Given the description of an element on the screen output the (x, y) to click on. 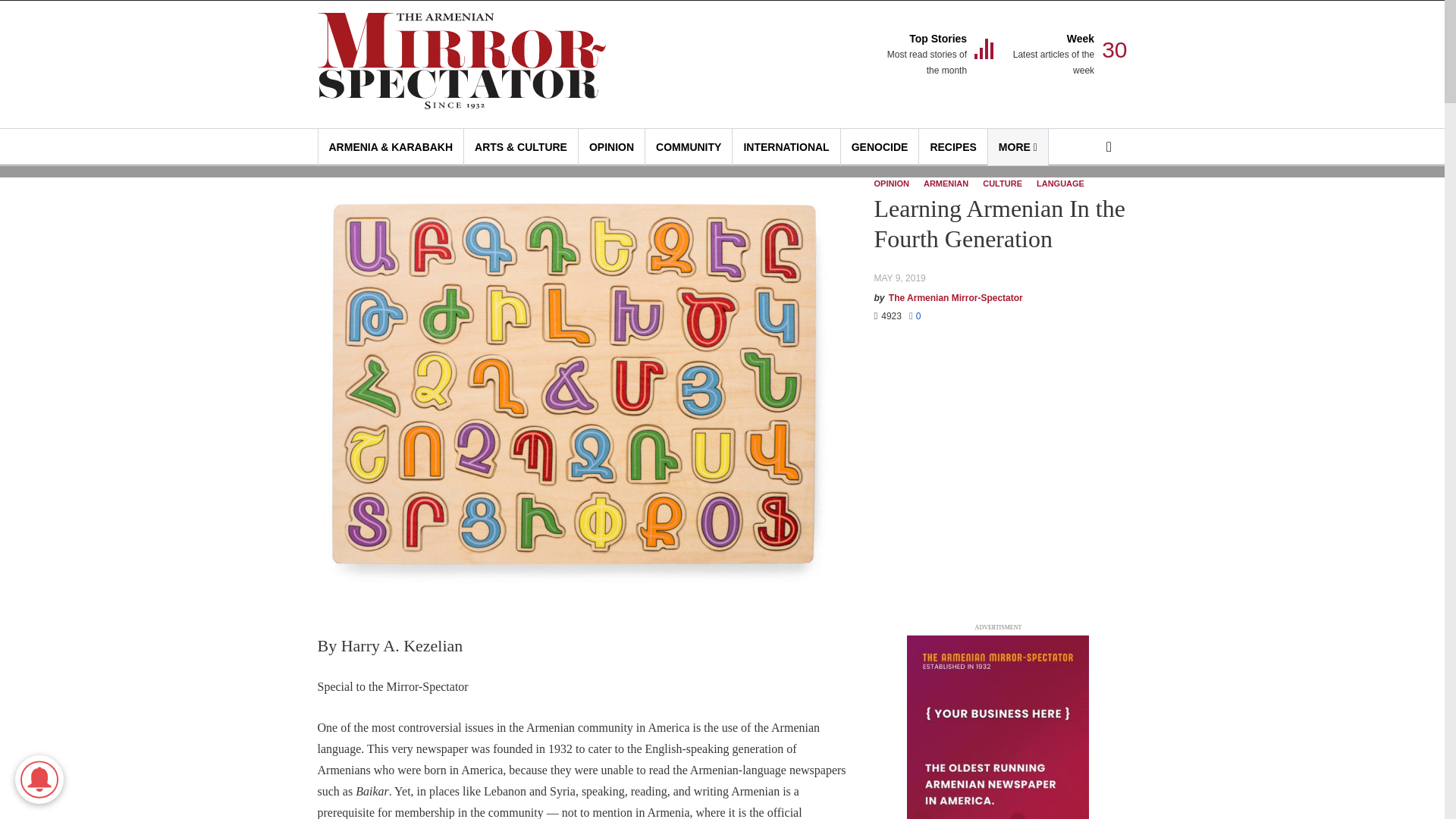
RECIPES (952, 146)
COMMUNITY (1052, 54)
GENOCIDE (688, 146)
INTERNATIONAL (879, 146)
MORE (786, 146)
OPINION (924, 54)
